Given the description of an element on the screen output the (x, y) to click on. 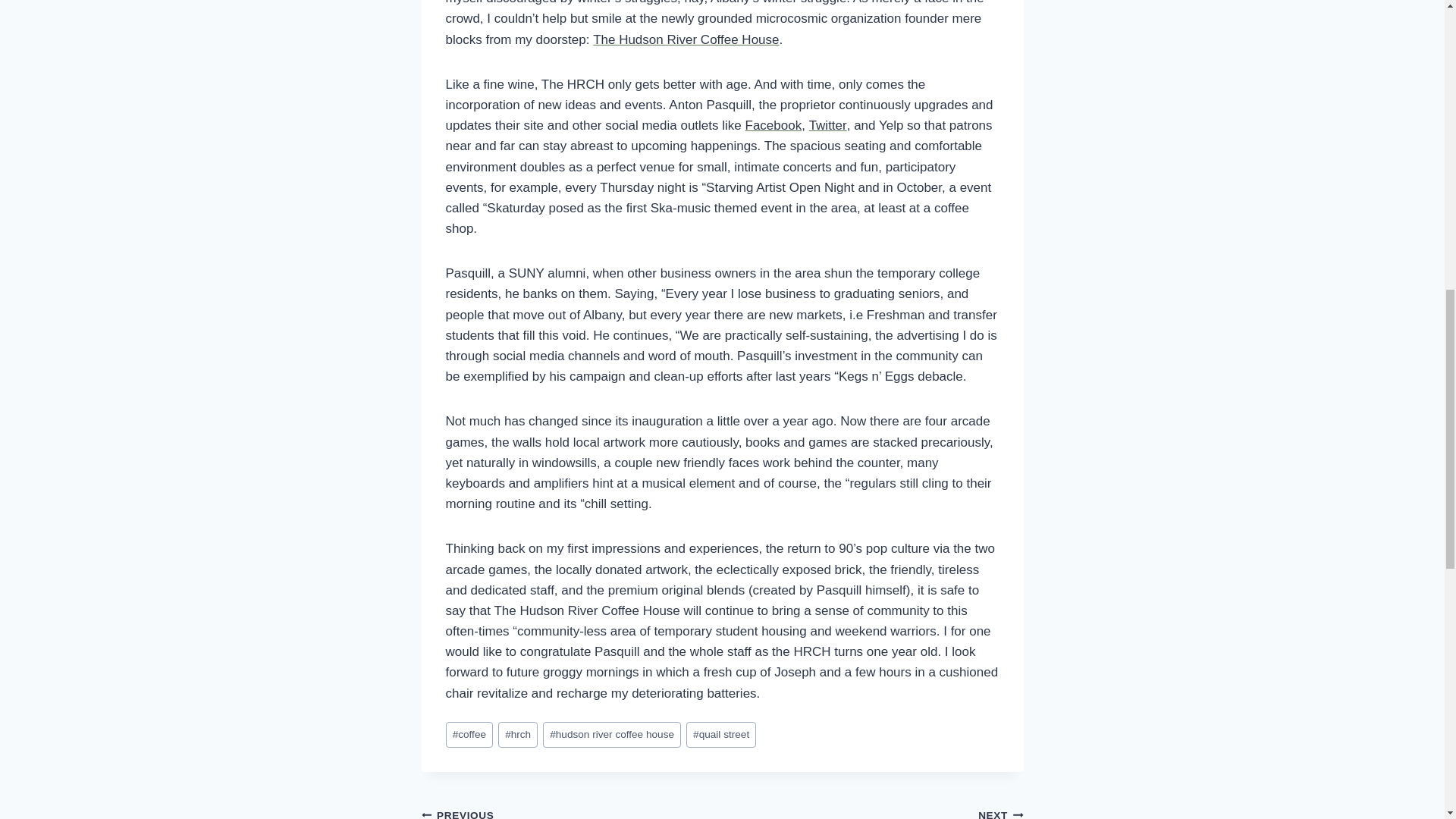
hudson river coffee house (872, 811)
Twitter (612, 734)
quail street (828, 124)
Facebook (720, 734)
The Hudson River Coffee House (773, 124)
coffee (685, 39)
hrch (469, 734)
